Given the description of an element on the screen output the (x, y) to click on. 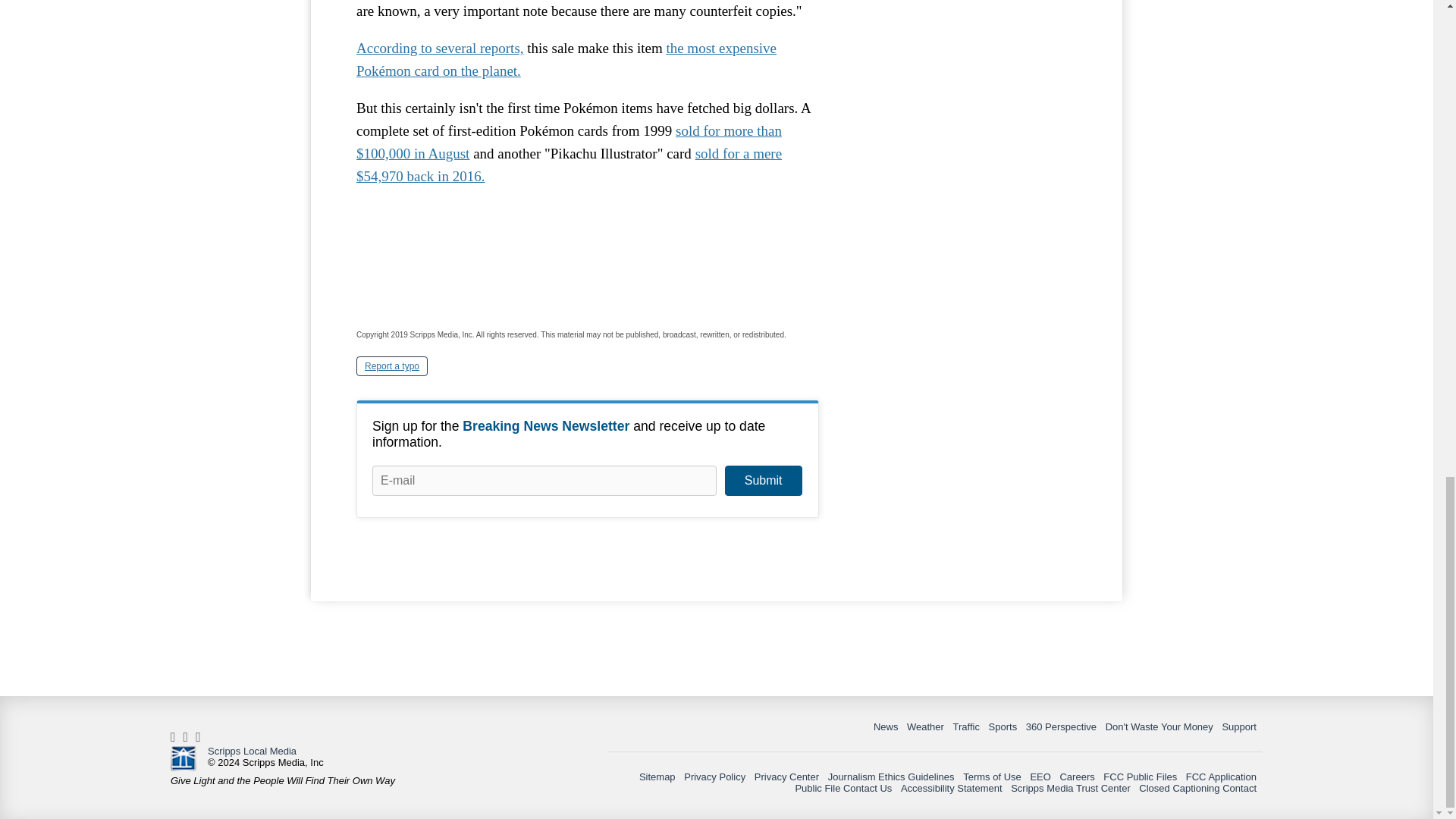
Submit (763, 481)
